Given the description of an element on the screen output the (x, y) to click on. 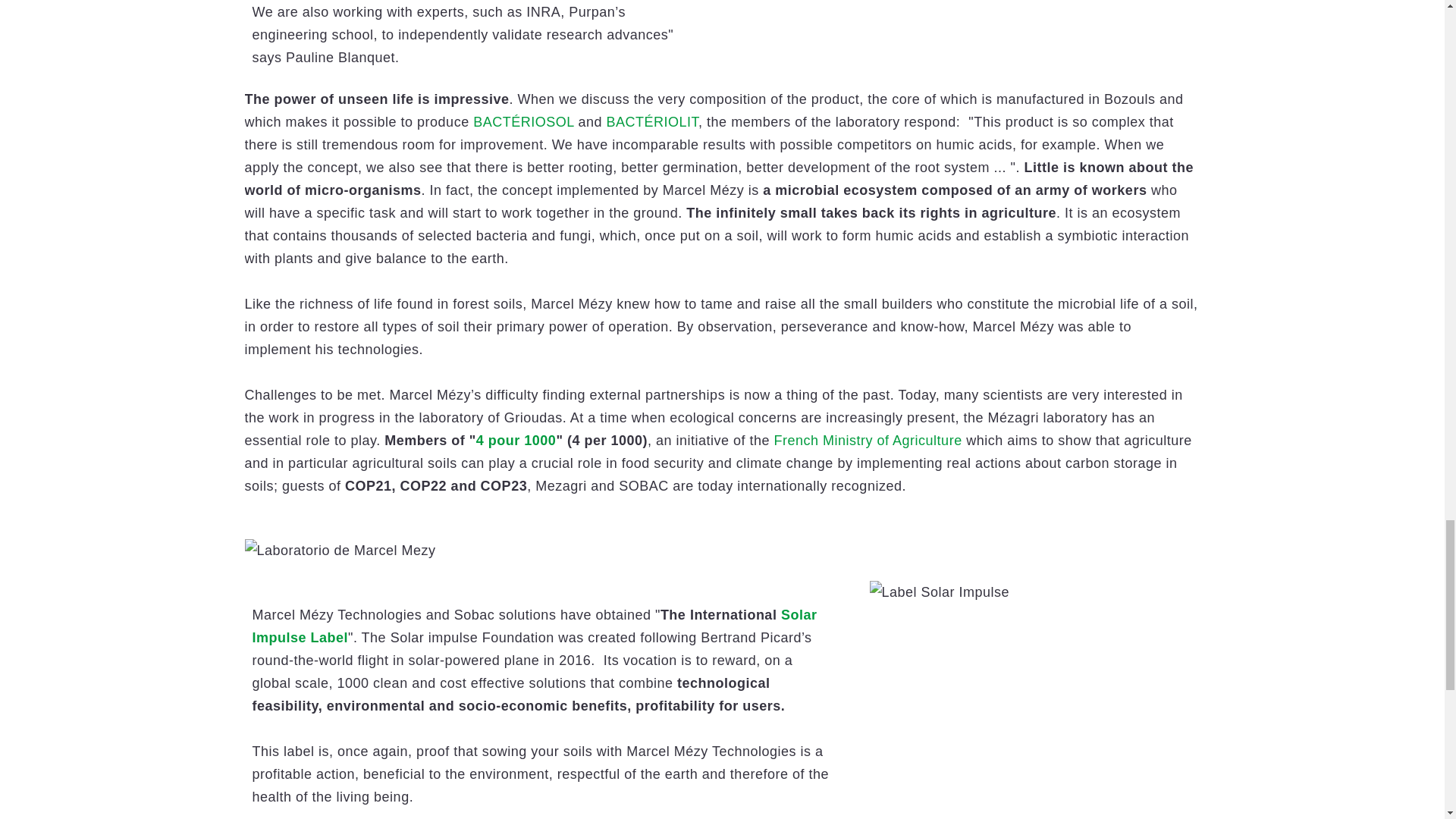
Label Solar Impulse (939, 591)
Laboratorio de Marcel Mezy (721, 549)
Bacteriolit - Agriculture (652, 121)
